Given the description of an element on the screen output the (x, y) to click on. 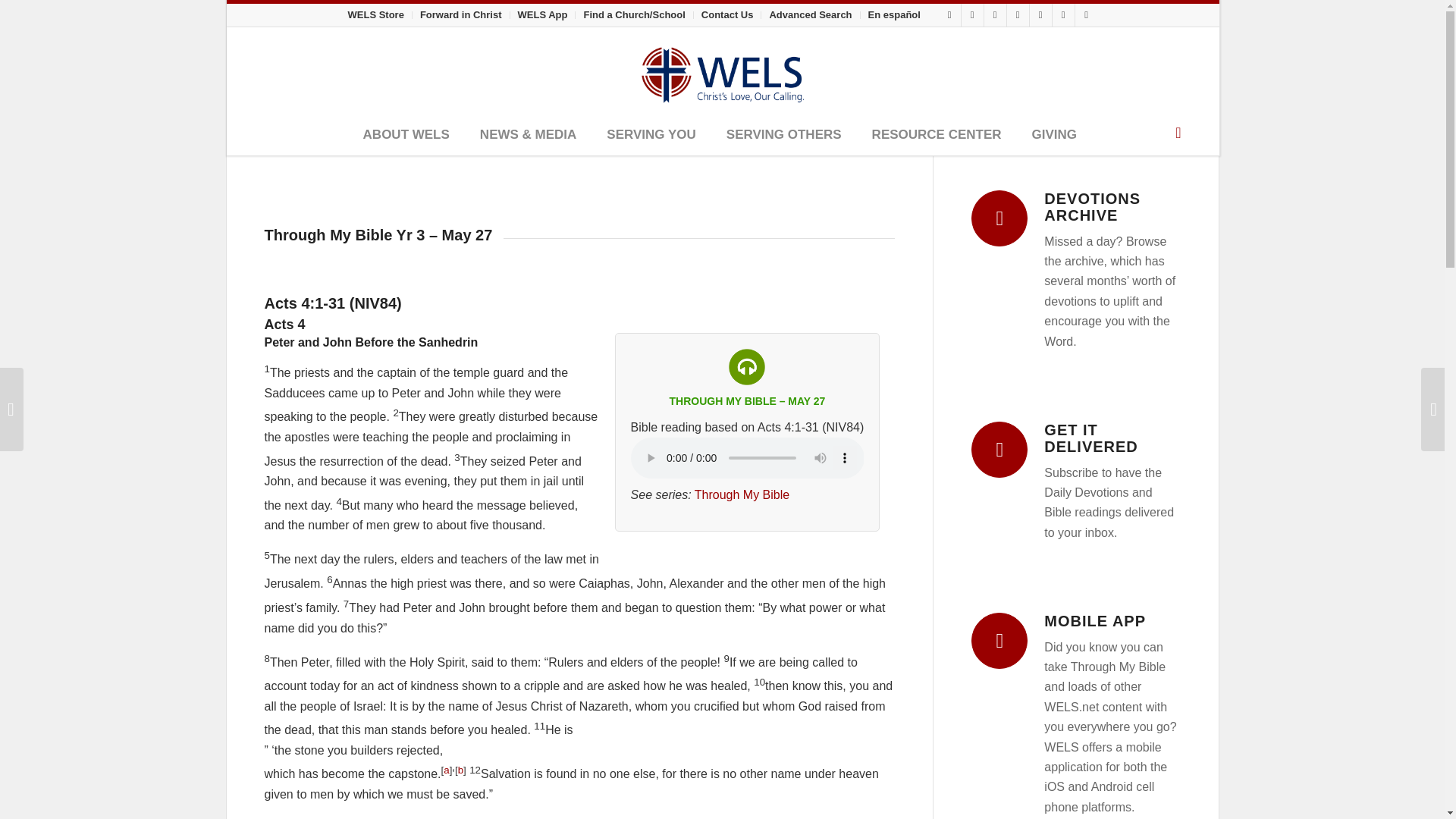
Instagram (972, 15)
Facebook (949, 15)
Contact Us (727, 14)
WELS Store (375, 14)
Advanced Search (809, 14)
Forward in Christ (461, 14)
WELS App (542, 14)
ABOUT WELS (405, 135)
WELSnet-Logo-2021 (722, 71)
